Given the description of an element on the screen output the (x, y) to click on. 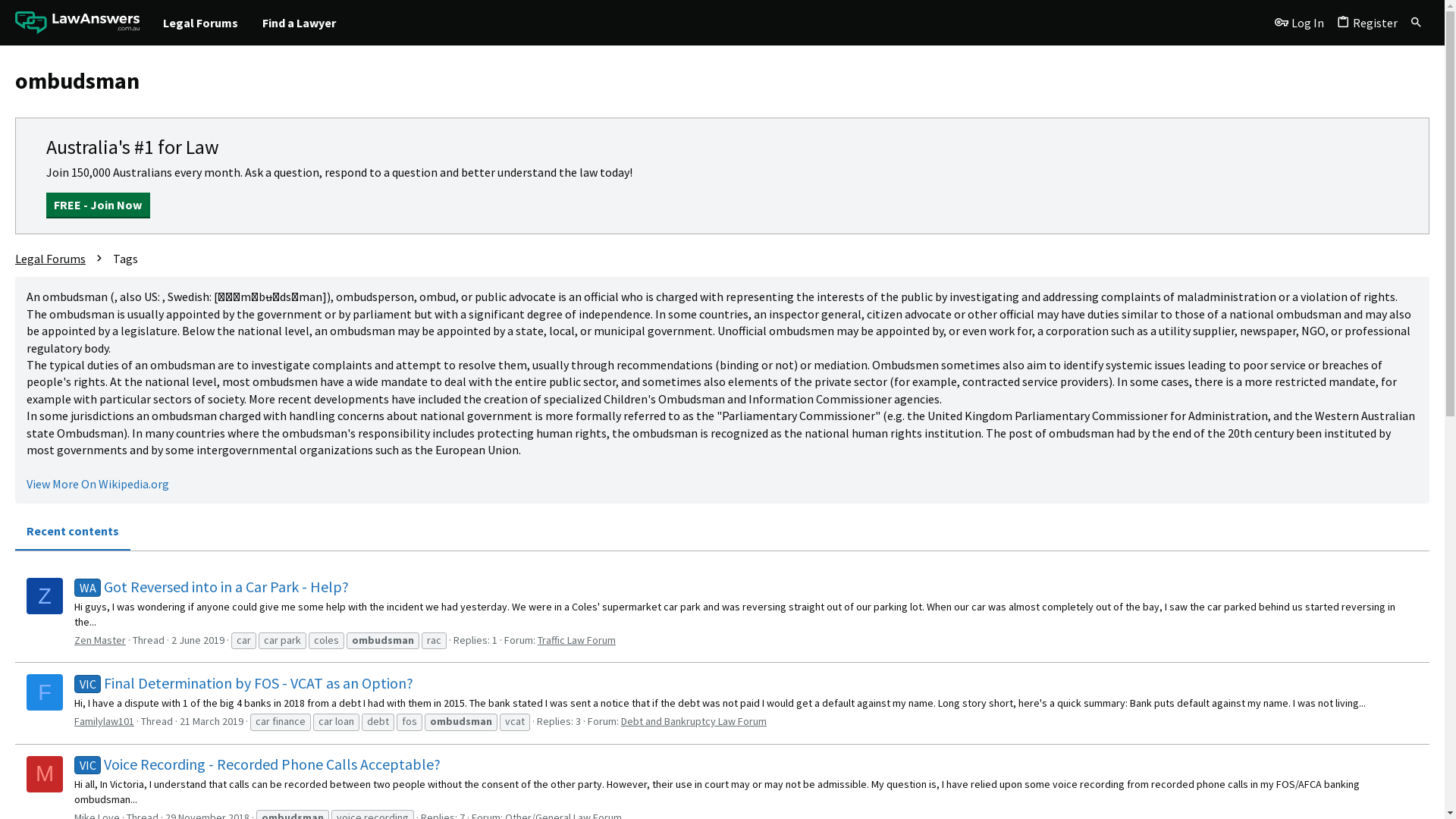
Traffic Law Forum Element type: text (576, 639)
View More On Wikipedia.org Element type: text (97, 483)
Legal Forums Element type: text (200, 22)
Familylaw101 Element type: text (104, 721)
VIC Final Determination by FOS - VCAT as an Option? Element type: text (243, 682)
F Element type: text (44, 692)
Log In Element type: text (1299, 21)
Find a Lawyer Element type: text (299, 22)
Search Element type: hover (1416, 22)
Tags Element type: text (125, 258)
VIC Voice Recording - Recorded Phone Calls Acceptable? Element type: text (257, 763)
FREE - Join Now Element type: text (98, 205)
WA Got Reversed into in a Car Park - Help? Element type: text (211, 586)
Zen Master Element type: text (99, 639)
Debt and Bankruptcy Law Forum Element type: text (693, 721)
Recent contents Element type: text (72, 530)
Register Element type: text (1366, 21)
Z Element type: text (44, 595)
M Element type: text (44, 774)
Legal Forums Element type: text (50, 258)
